Given the description of an element on the screen output the (x, y) to click on. 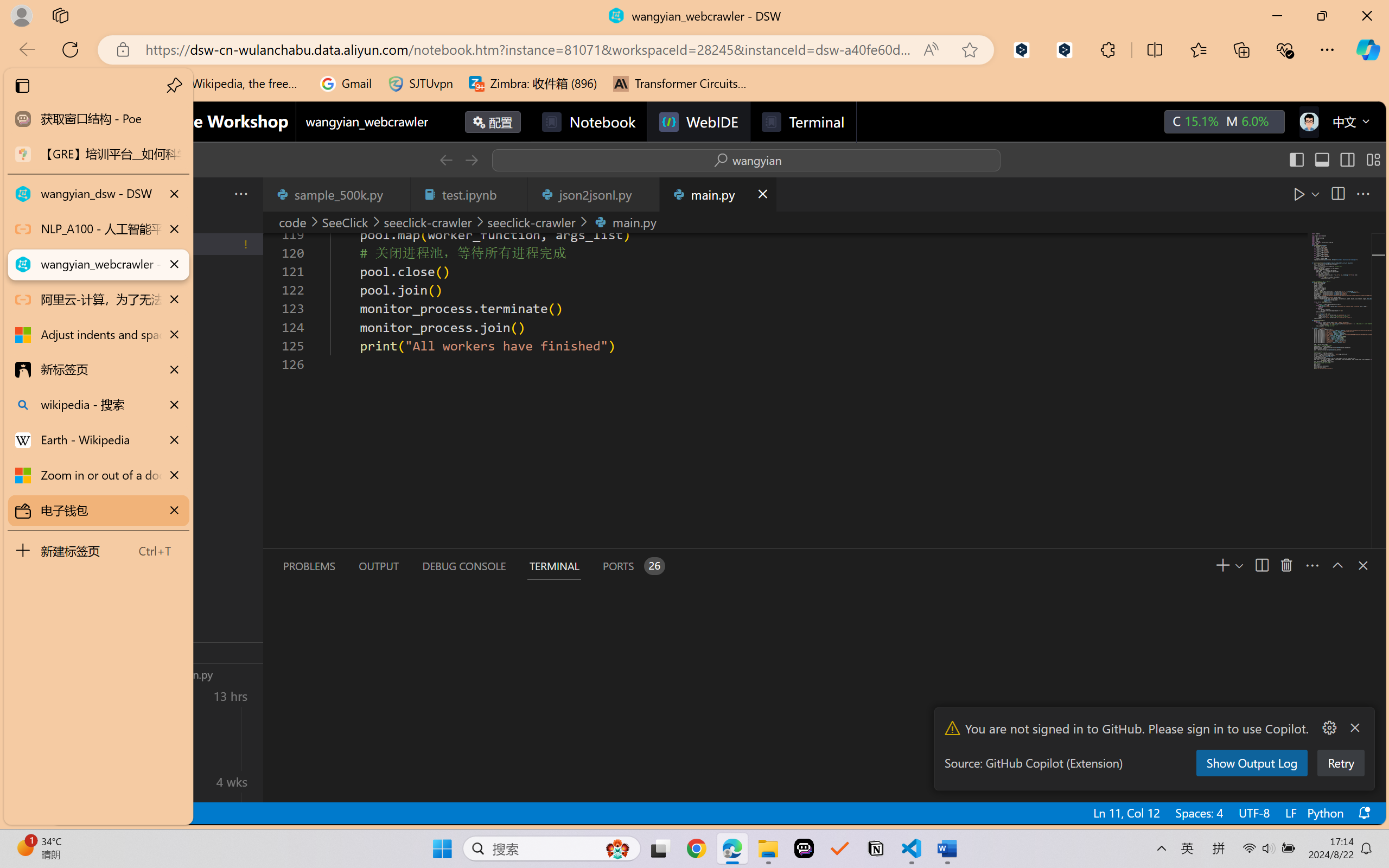
SJTUvpn (419, 83)
Ports - 26 forwarded ports (632, 565)
Views and More Actions... (1311, 565)
json2jsonl.py (593, 194)
No Problems (115, 812)
Accounts - Sign in requested (73, 732)
Notebook (588, 121)
Ln 11, Col 12 (1125, 812)
Customize Layout... (1372, 159)
Go Back (Alt+LeftArrow) (445, 159)
